Given the description of an element on the screen output the (x, y) to click on. 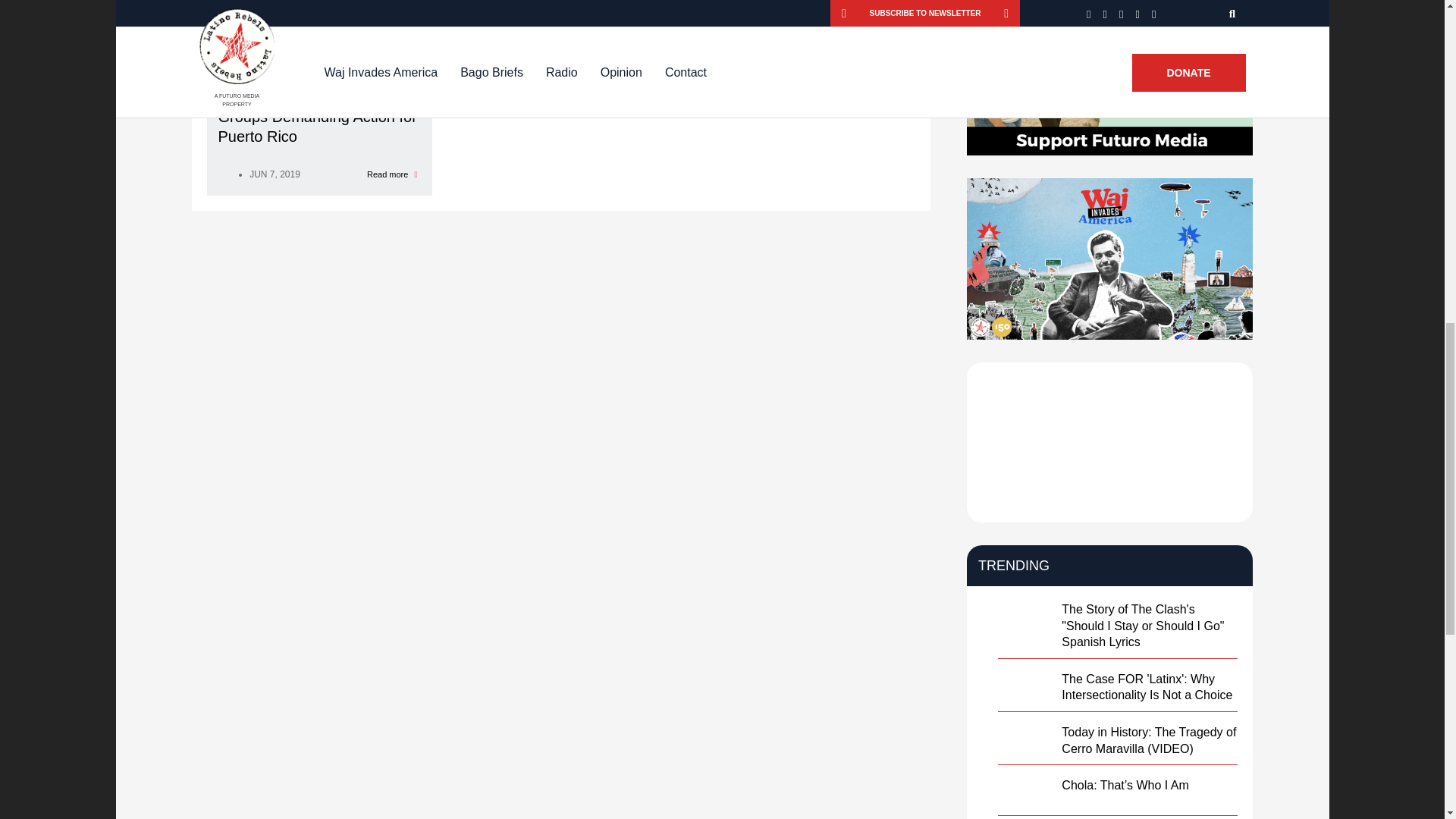
The Case FOR 'Latinx': Why Intersectionality Is Not a Choice (1146, 686)
